Given the description of an element on the screen output the (x, y) to click on. 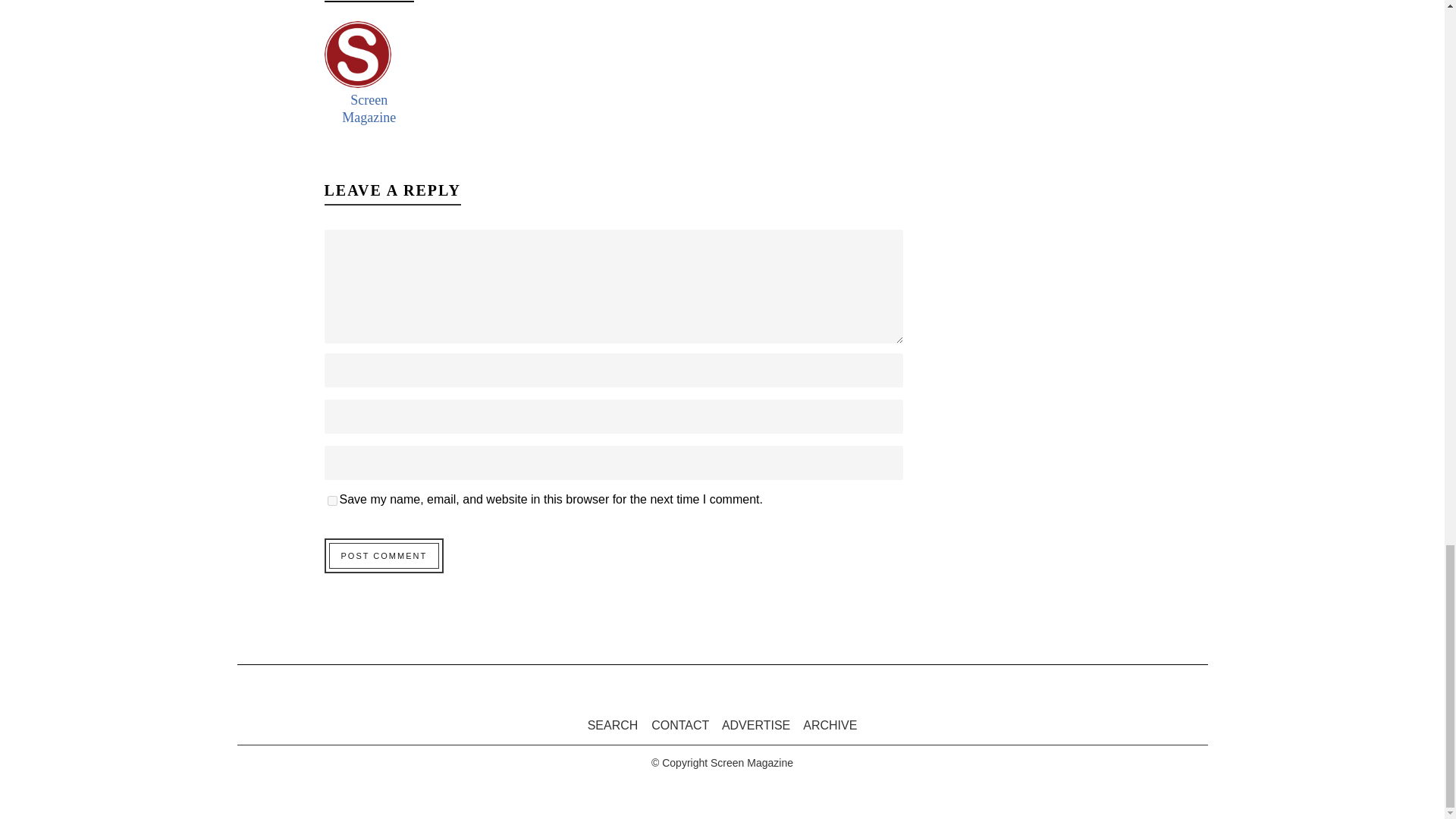
Screen Magazine (369, 108)
yes (332, 501)
Post Comment (384, 555)
Posts by Screen Magazine (369, 108)
Post Comment (384, 555)
